Given the description of an element on the screen output the (x, y) to click on. 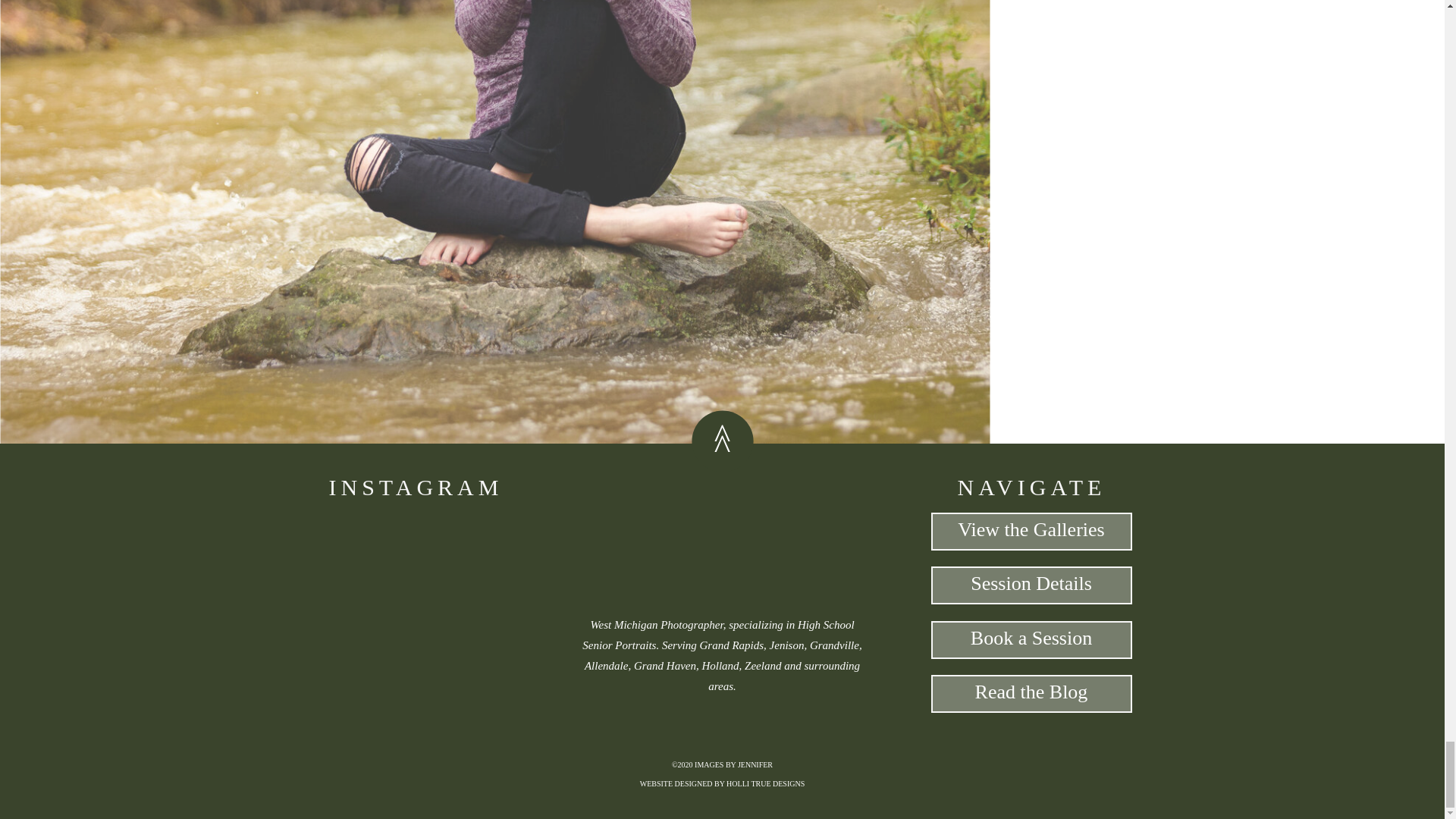
Session Details (1030, 585)
Book a Session (1030, 639)
Read the Blog (1030, 693)
